Given the description of an element on the screen output the (x, y) to click on. 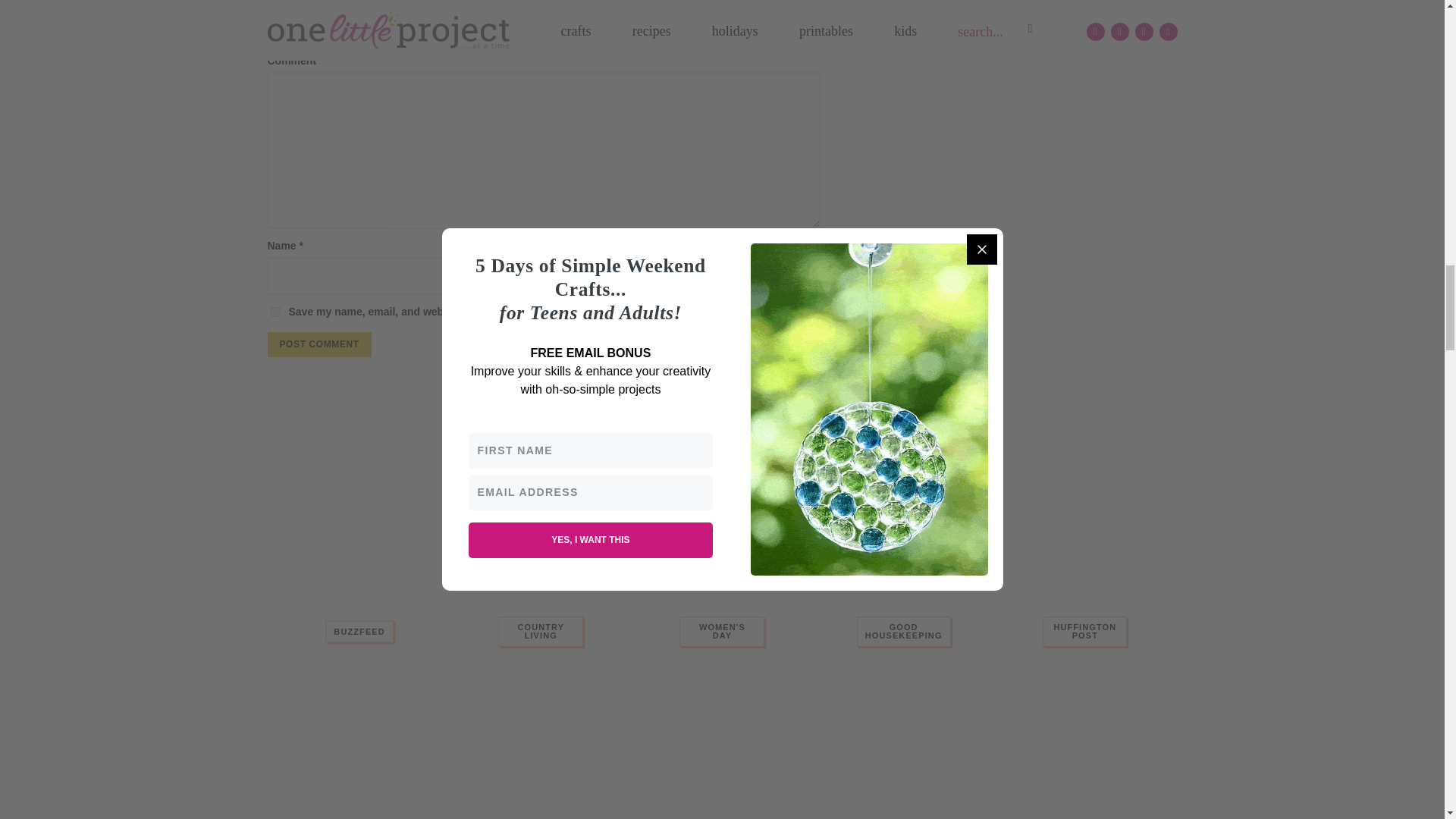
Post Comment (318, 344)
yes (274, 311)
